Given the description of an element on the screen output the (x, y) to click on. 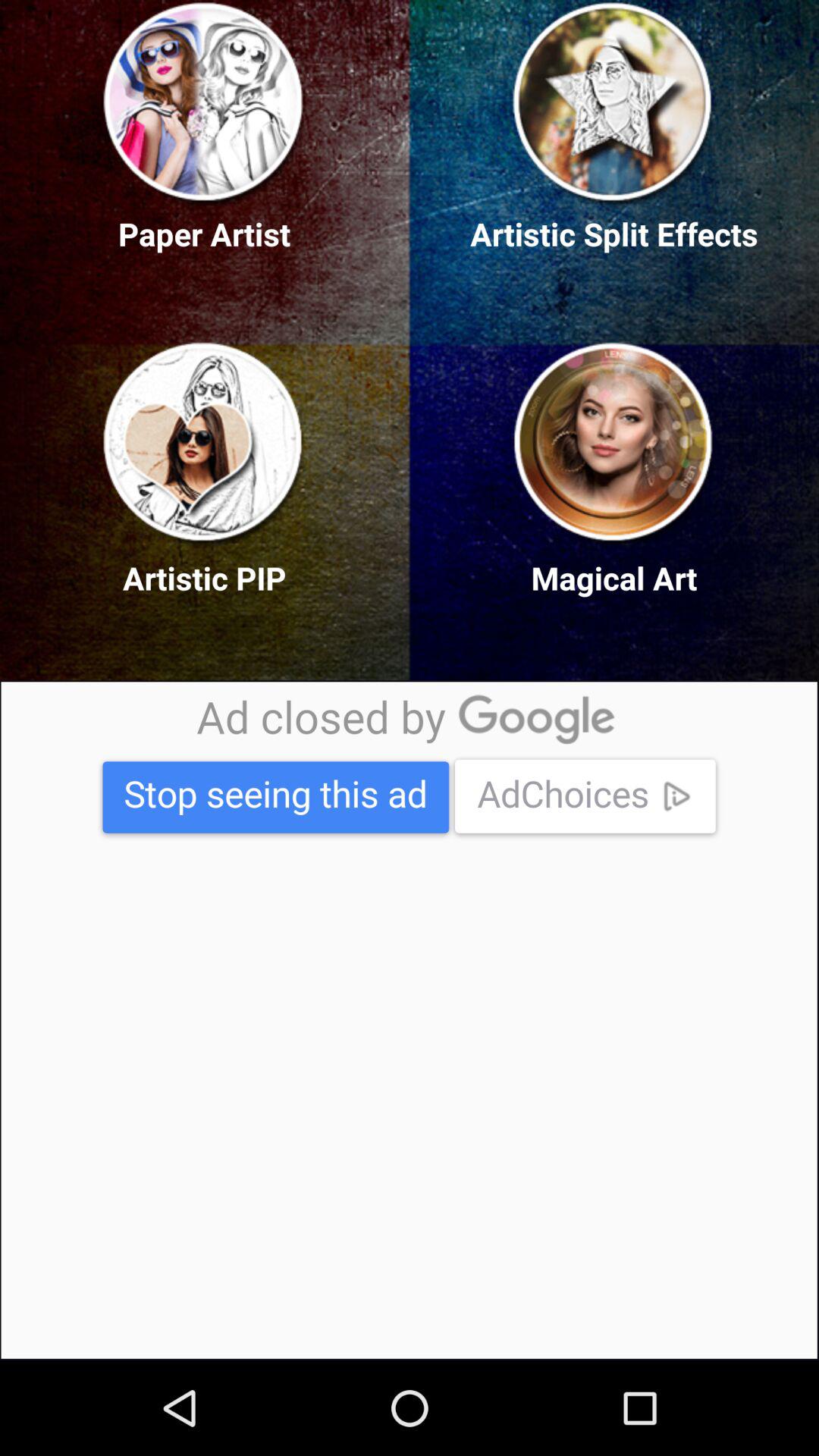
advertisement (409, 1019)
